Given the description of an element on the screen output the (x, y) to click on. 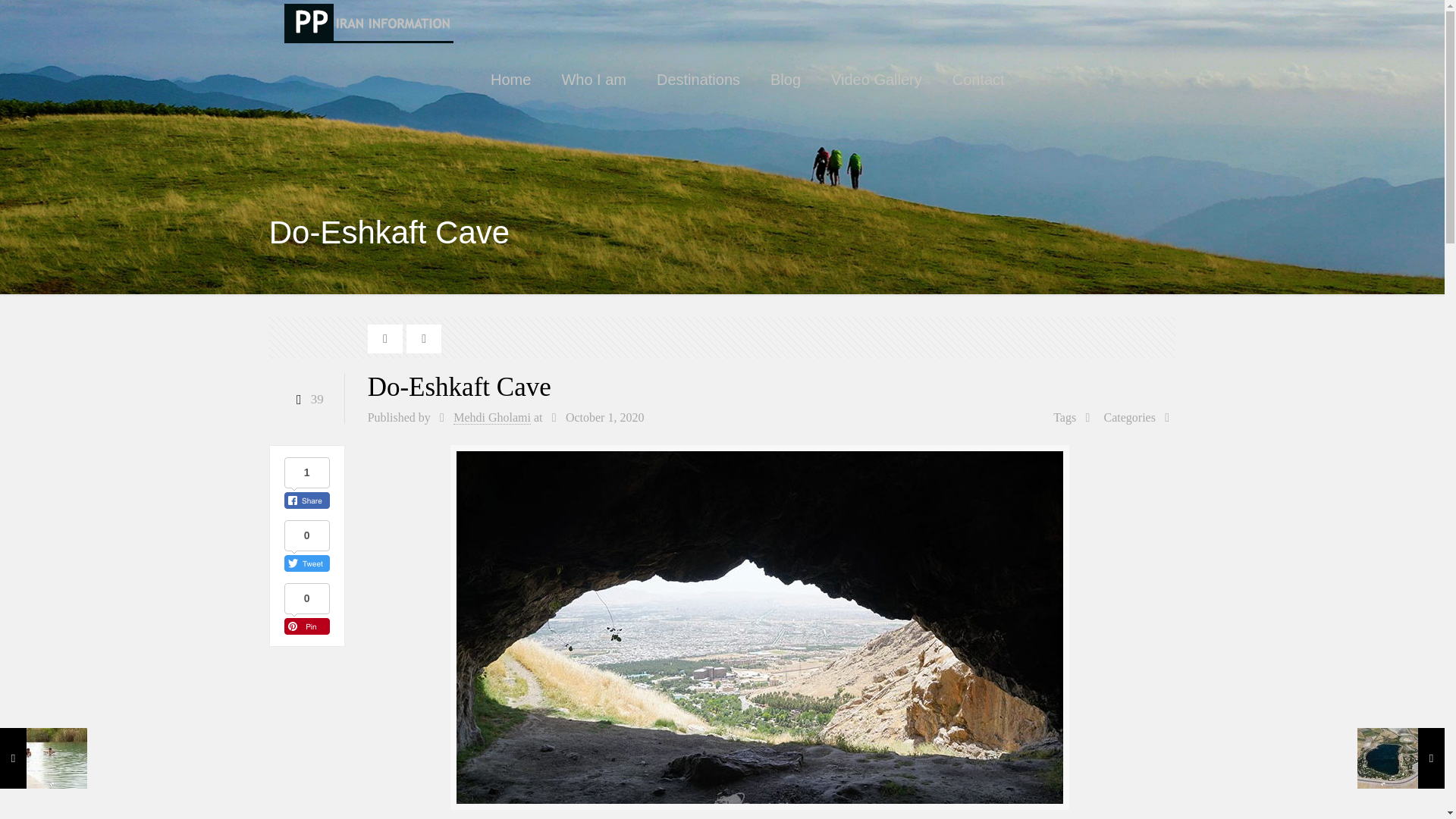
Home (511, 79)
Iran Travel Information (367, 22)
Blog (785, 79)
Destinations (698, 79)
Who I am (594, 79)
Mehdi Gholami (491, 418)
Contact (978, 79)
39 (306, 399)
Video Gallery (876, 79)
